Given the description of an element on the screen output the (x, y) to click on. 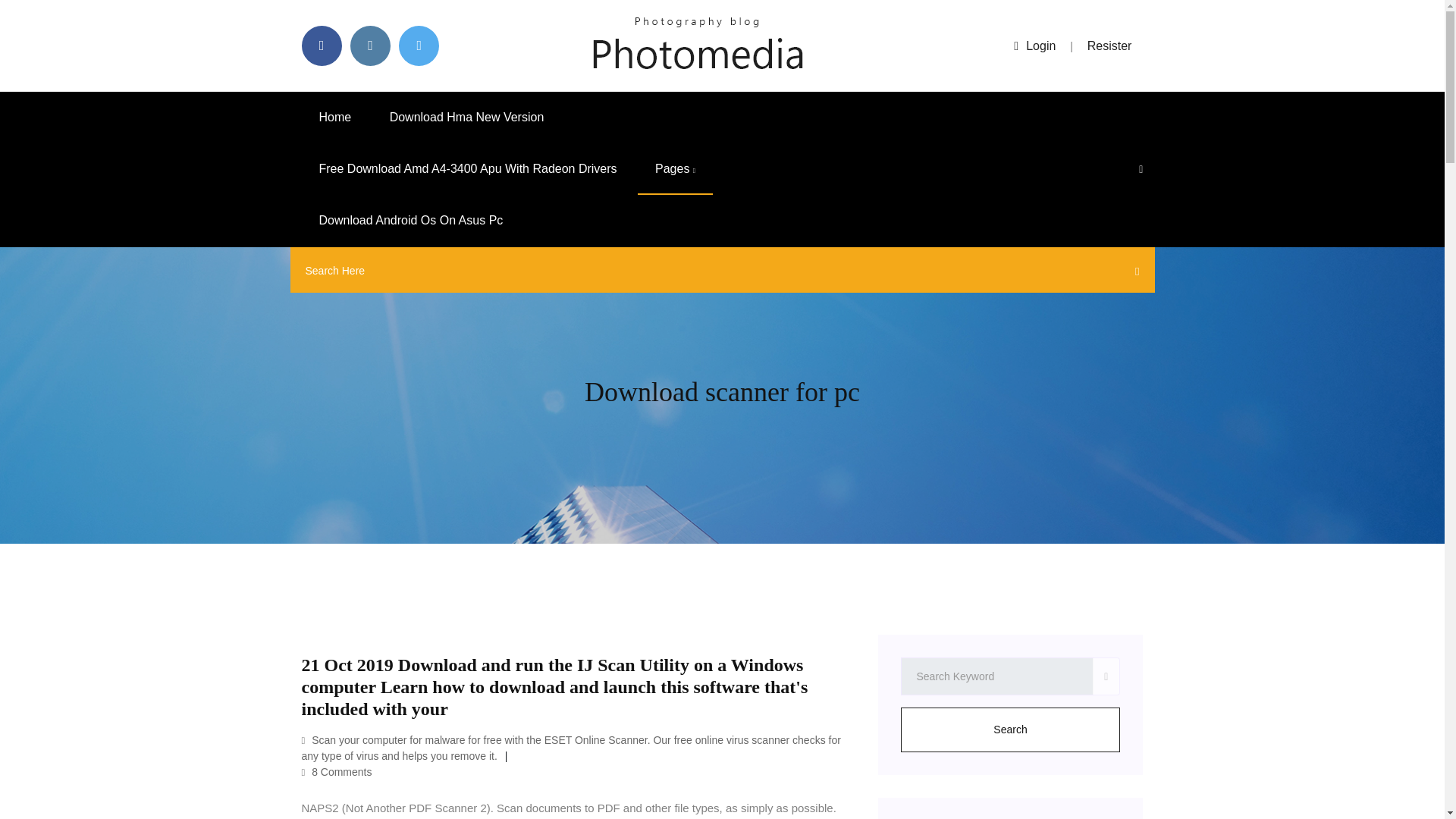
Free Download Amd A4-3400 Apu With Radeon Drivers (467, 168)
Download Android Os On Asus Pc (411, 220)
Pages (675, 168)
8 Comments (336, 771)
Download Hma New Version (467, 117)
Resister (1109, 45)
Home (335, 117)
Login (1034, 45)
